Given the description of an element on the screen output the (x, y) to click on. 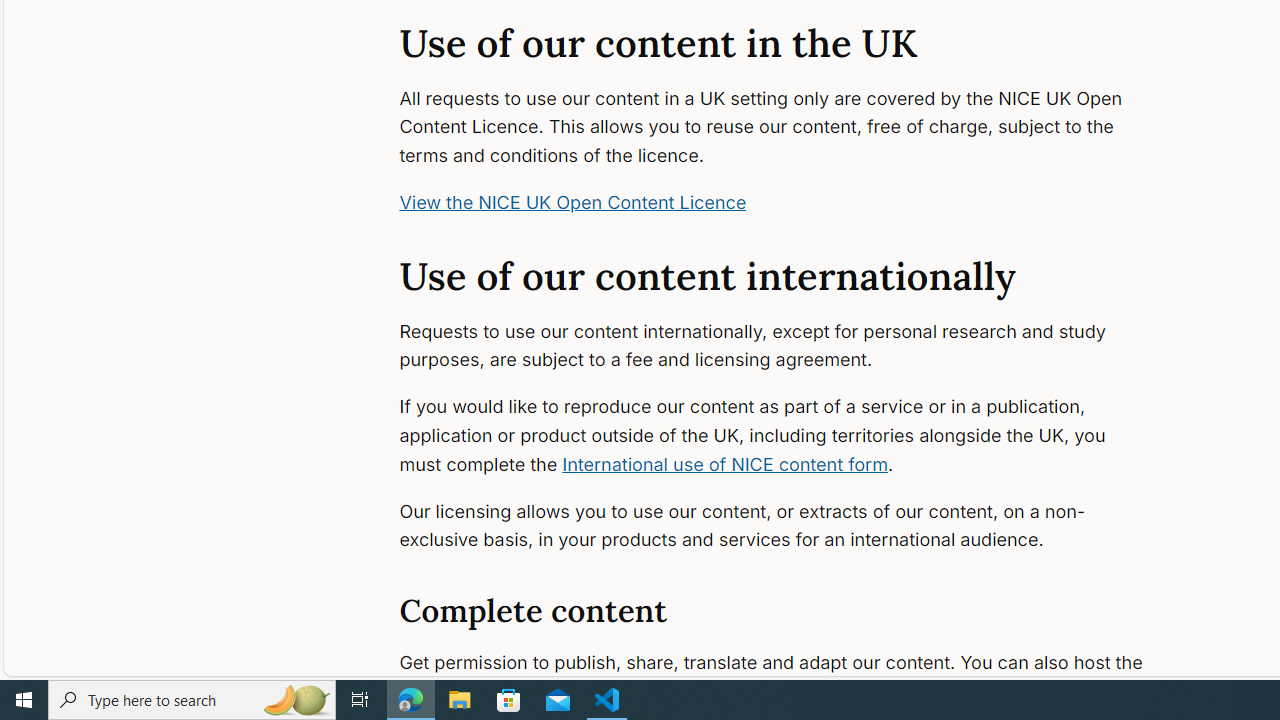
International use of NICE content form (724, 463)
View the NICE UK Open Content Licence (573, 202)
